Given the description of an element on the screen output the (x, y) to click on. 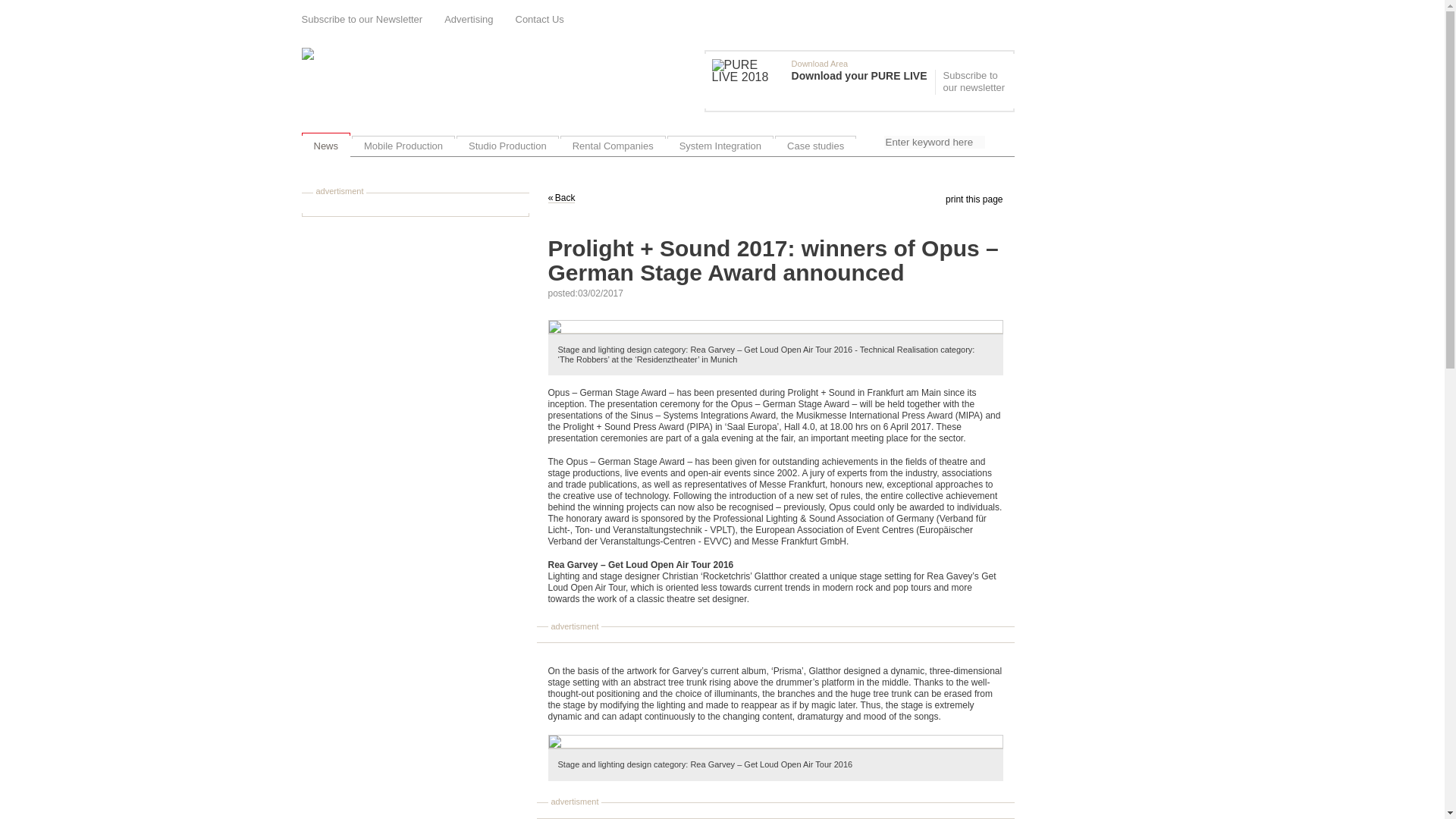
Publication (822, 80)
PURE LIVE 2018 (747, 70)
Subscribe to our Newsletter (362, 19)
Contact Us (539, 19)
RSS (1008, 17)
Advertising (468, 19)
Go (998, 144)
Subscribe to our newsletter (972, 82)
